Given the description of an element on the screen output the (x, y) to click on. 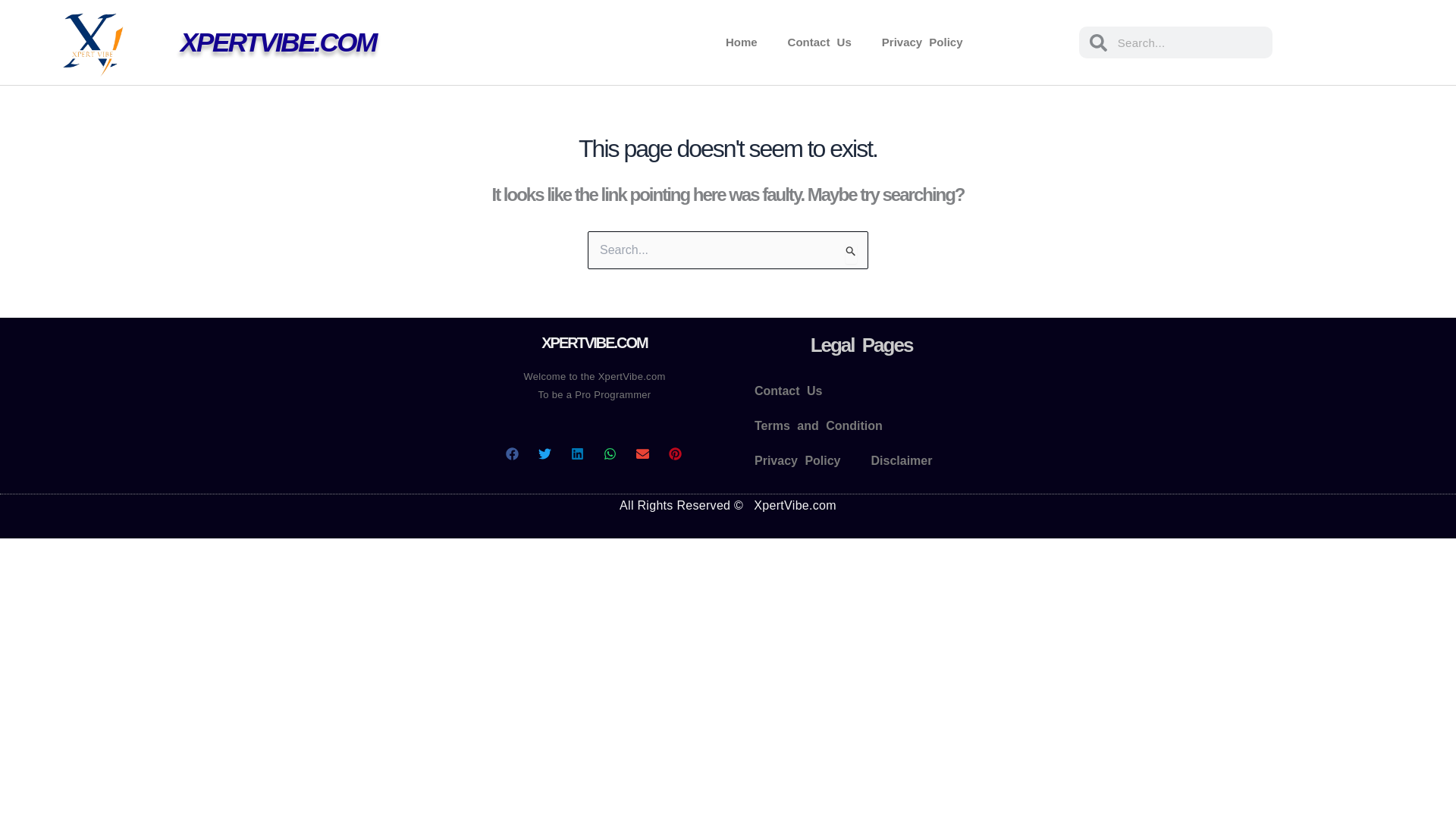
Privacy Policy (922, 42)
Terms and Condition (818, 425)
XPERTVIBE.COM (277, 41)
Contact Us (819, 42)
Disclaimer (901, 460)
Contact Us (788, 390)
Home (741, 42)
Privacy Policy (797, 460)
XPERTVIBE.COM (594, 342)
